Given the description of an element on the screen output the (x, y) to click on. 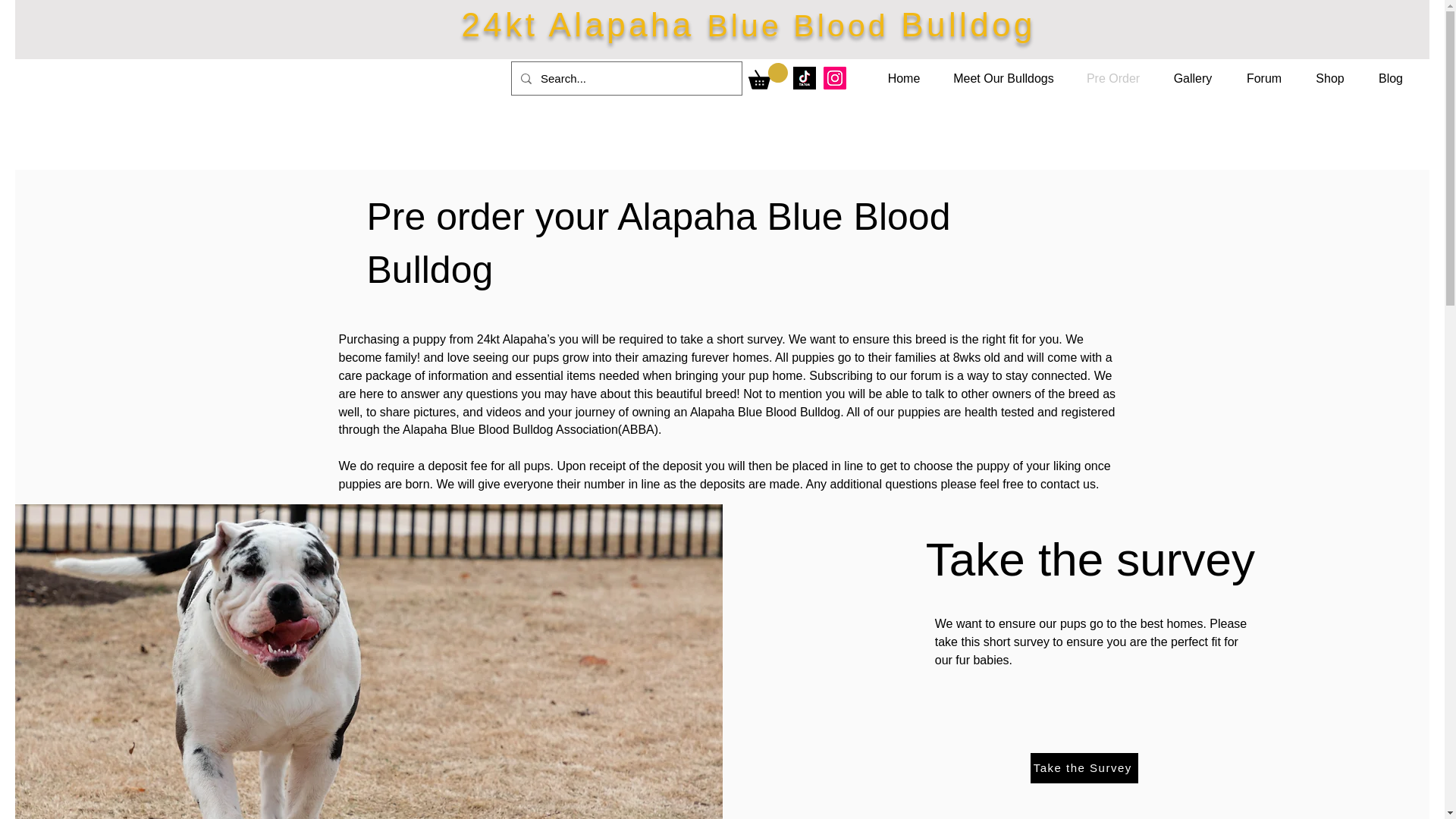
Shop (1329, 78)
Forum (1263, 78)
Home (903, 78)
Take the Survey (1084, 767)
Pre Order (1113, 78)
Blog (1391, 78)
Meet Our Bulldogs (1003, 78)
Gallery (1192, 78)
